Given the description of an element on the screen output the (x, y) to click on. 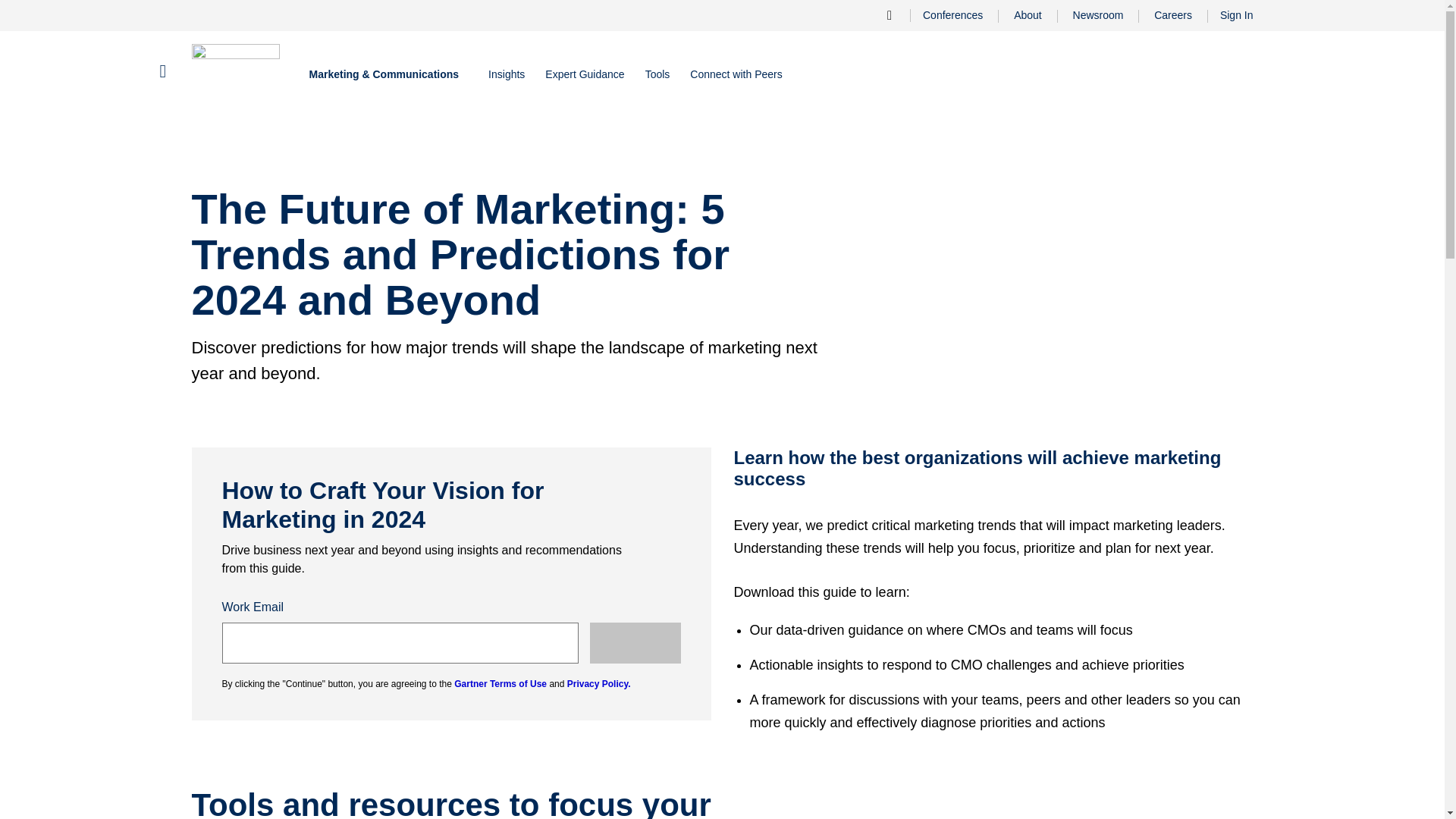
Careers (1172, 15)
Newsroom (1098, 15)
Sign In (1230, 15)
About (1027, 15)
Conferences (952, 15)
